Given the description of an element on the screen output the (x, y) to click on. 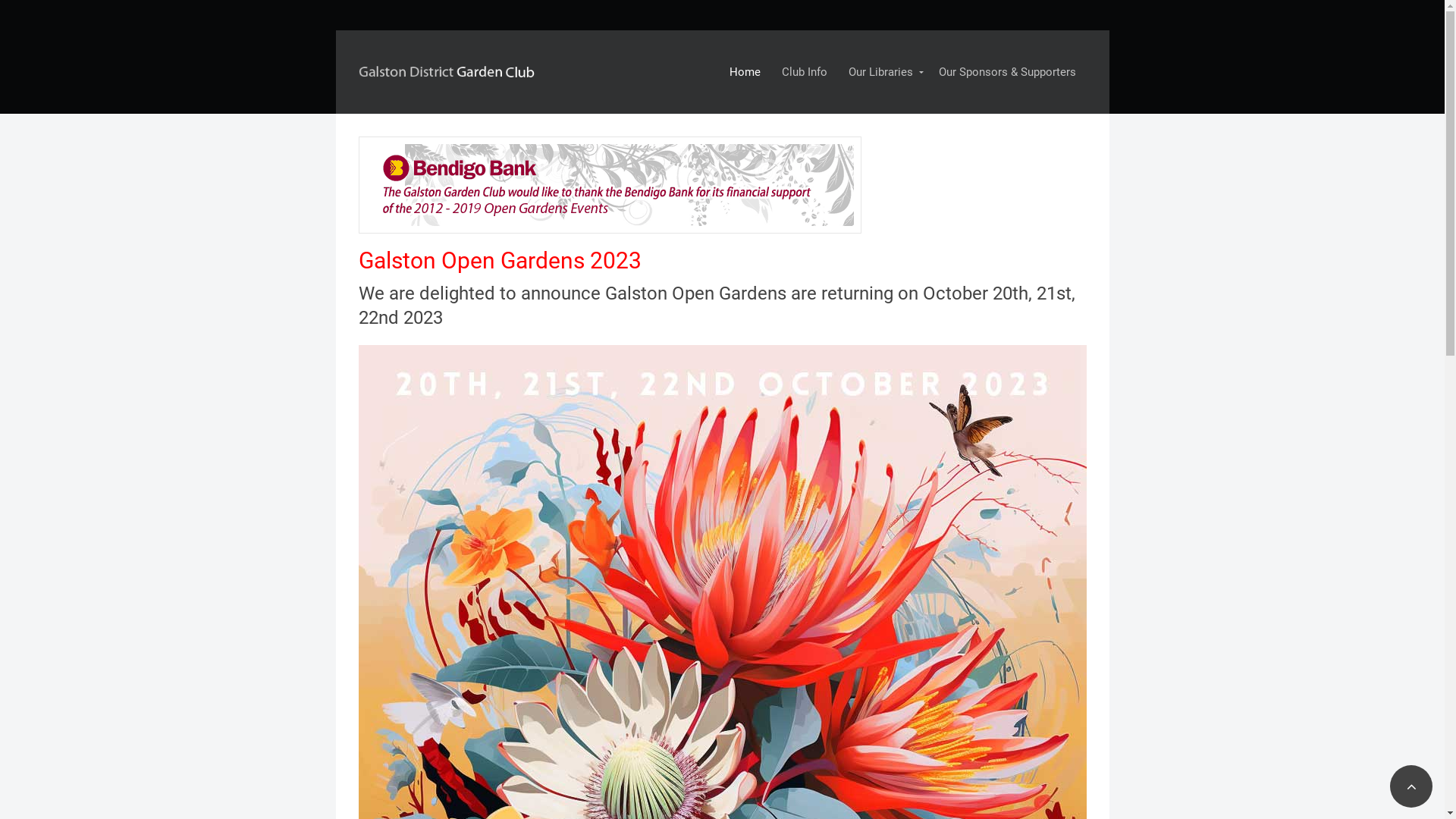
Galston District Garden Club ~ Galston Open Gardens Element type: hover (448, 68)
Top Element type: text (1411, 786)
Home Element type: text (744, 72)
Our Libraries Element type: text (882, 72)
Our Sponsors & Supporters Element type: text (1007, 72)
Club Info Element type: text (803, 72)
